Given the description of an element on the screen output the (x, y) to click on. 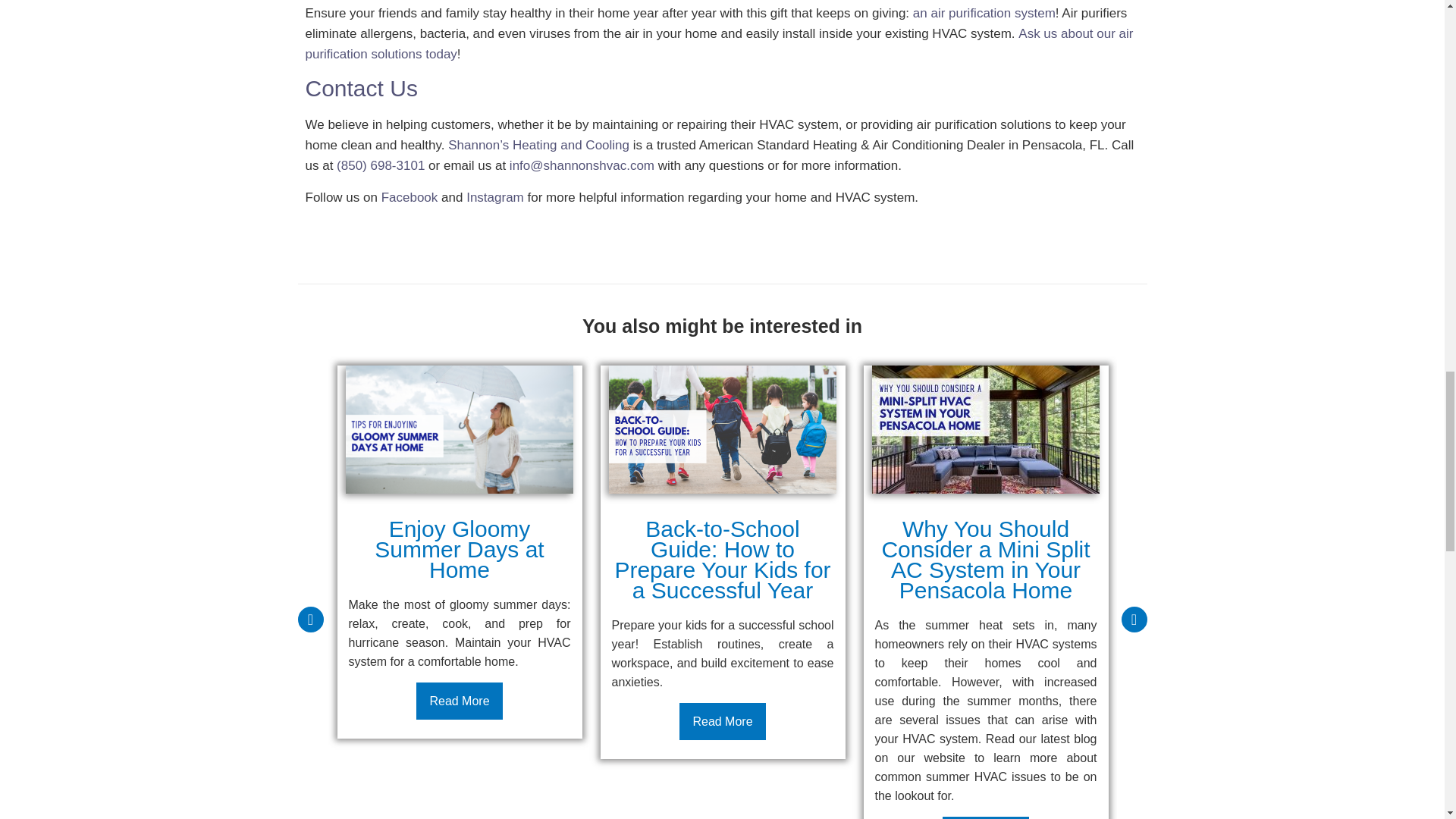
Enjoy Gloomy Summer Days at Home (459, 429)
